Given the description of an element on the screen output the (x, y) to click on. 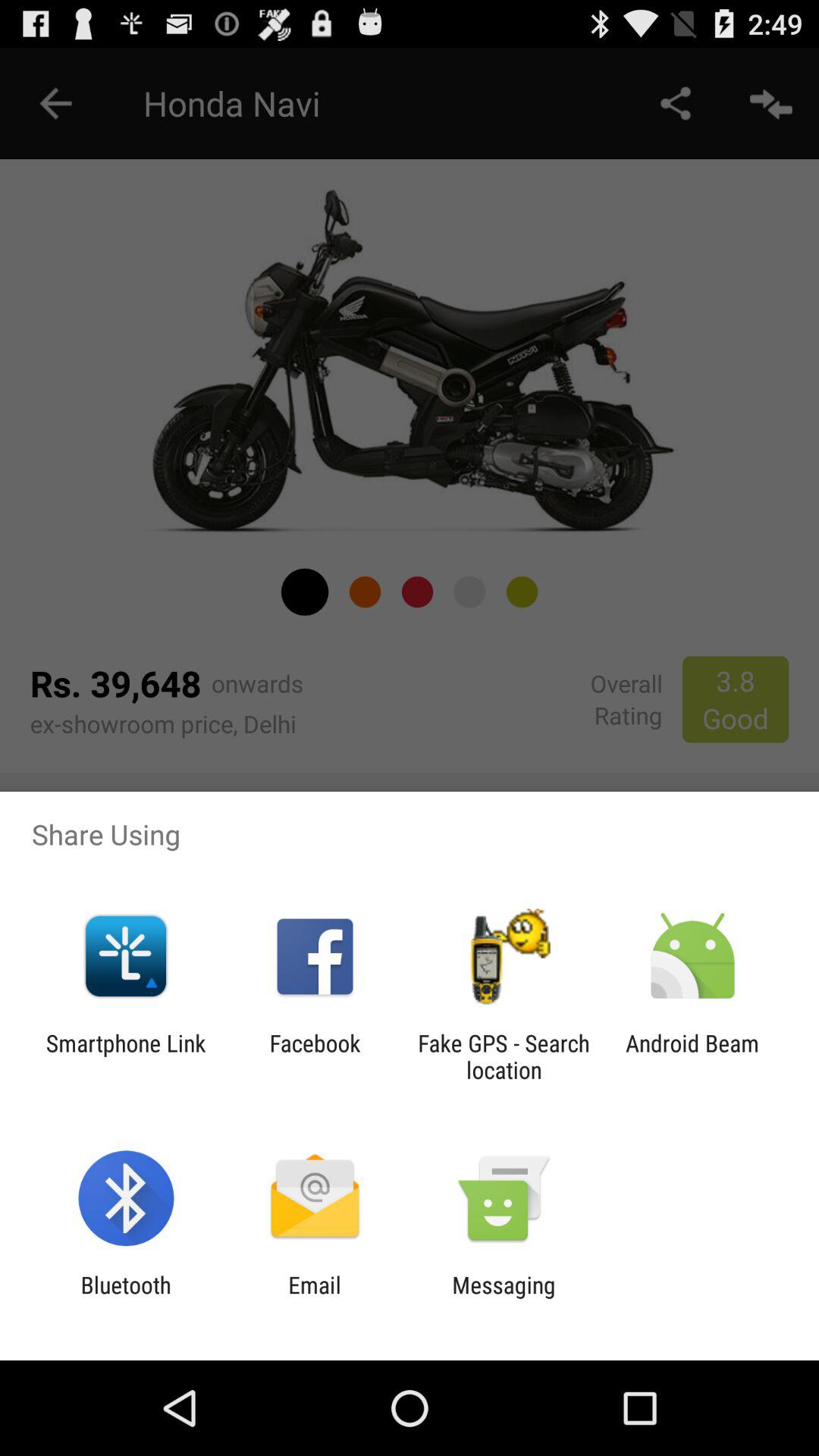
tap the icon to the right of the smartphone link app (314, 1056)
